Given the description of an element on the screen output the (x, y) to click on. 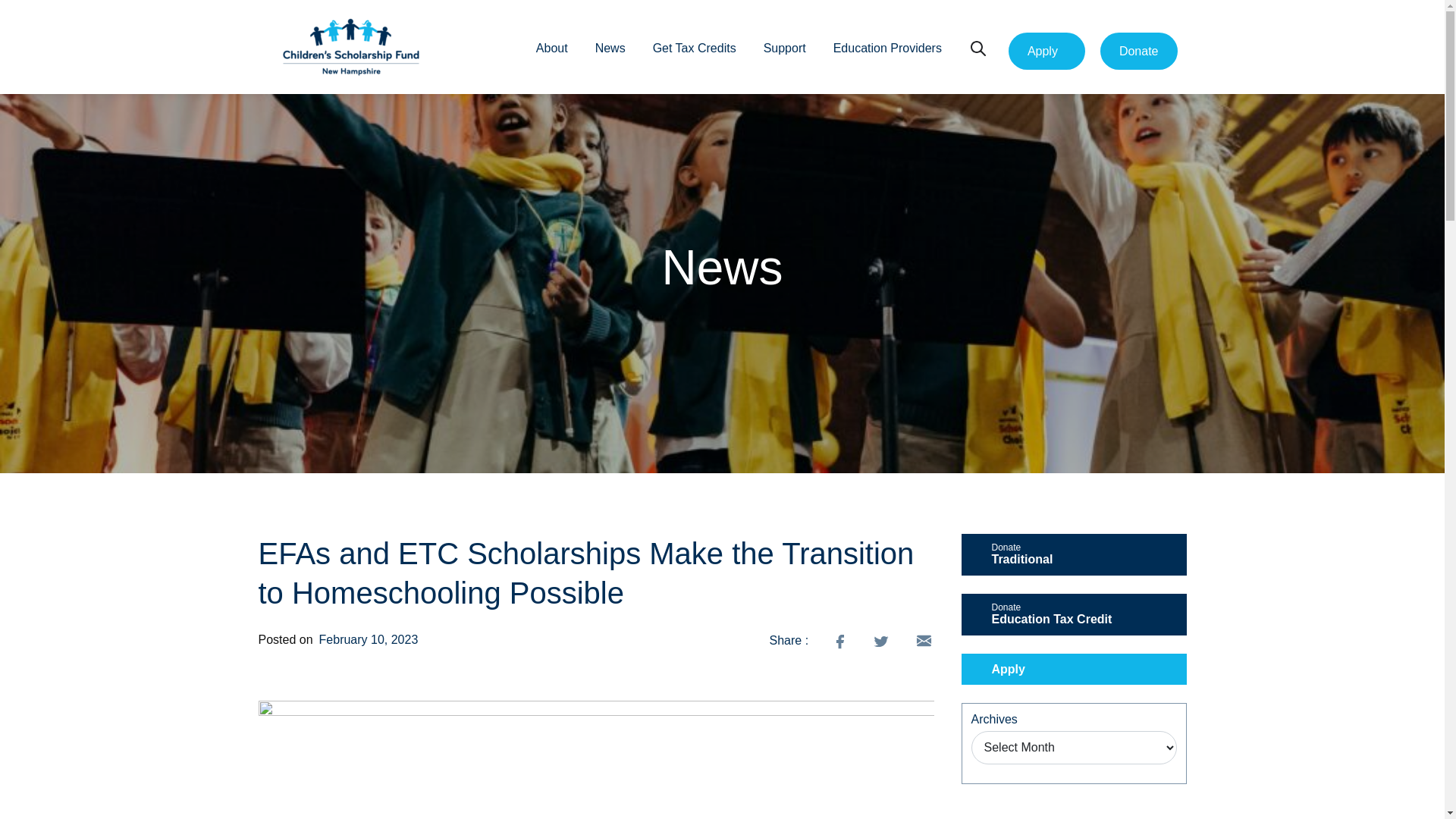
Apply (1073, 554)
Get Tax Credits (1046, 51)
Education Providers (694, 53)
Support (887, 53)
About (784, 53)
News (1073, 614)
Apply (551, 53)
Donate (610, 53)
